Given the description of an element on the screen output the (x, y) to click on. 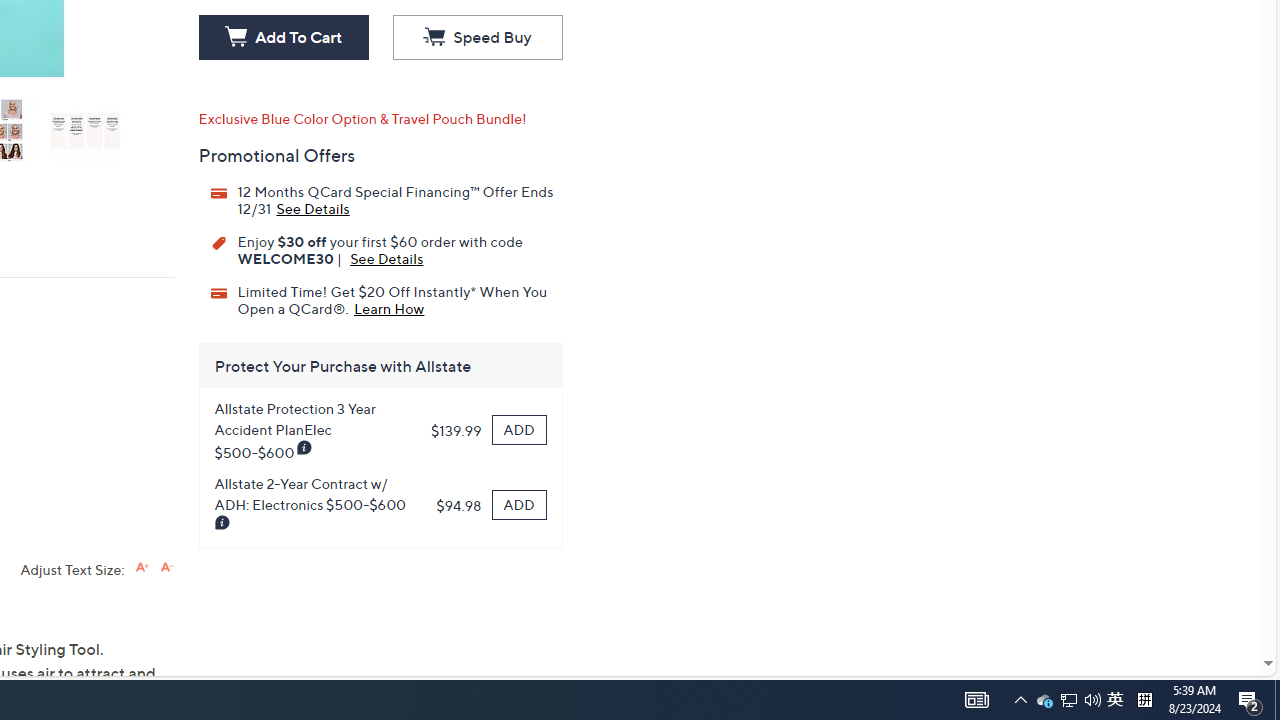
Add To Cart (283, 38)
See Details (1044, 699)
Speed Buy (1115, 699)
Decrease font size (386, 258)
Increase font size (477, 38)
12 Months QCard Special Financing Offer Ends 12/31 (166, 566)
